Given the description of an element on the screen output the (x, y) to click on. 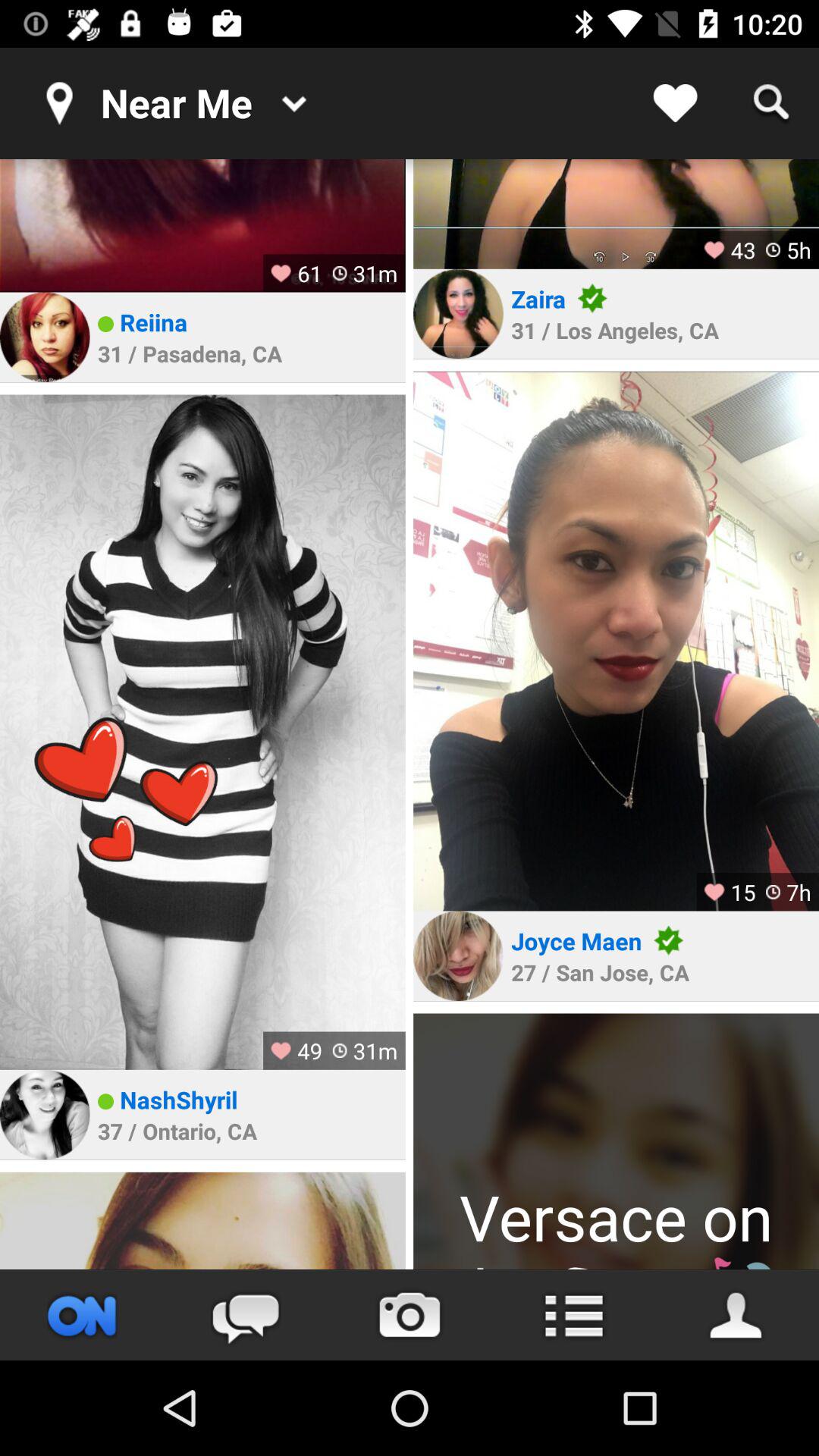
go to your profile (737, 1315)
